Given the description of an element on the screen output the (x, y) to click on. 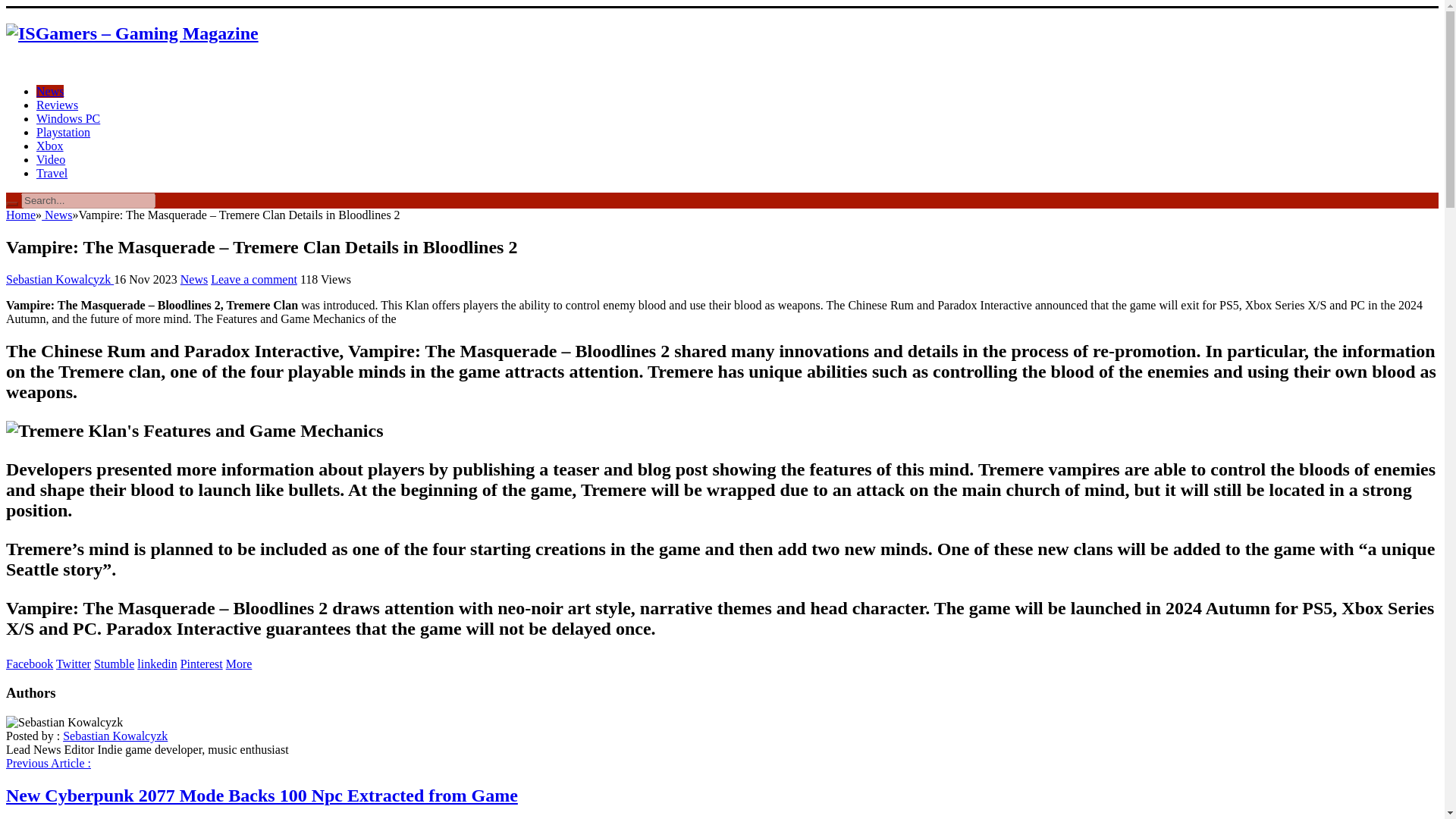
Video (50, 159)
Playstation (63, 132)
Travel (51, 173)
News (194, 278)
Facebook (28, 663)
Home (19, 214)
Tremere Klan's Features and Game Mechanics (194, 430)
More (238, 663)
Reviews (57, 104)
Pinterest (201, 663)
